Given the description of an element on the screen output the (x, y) to click on. 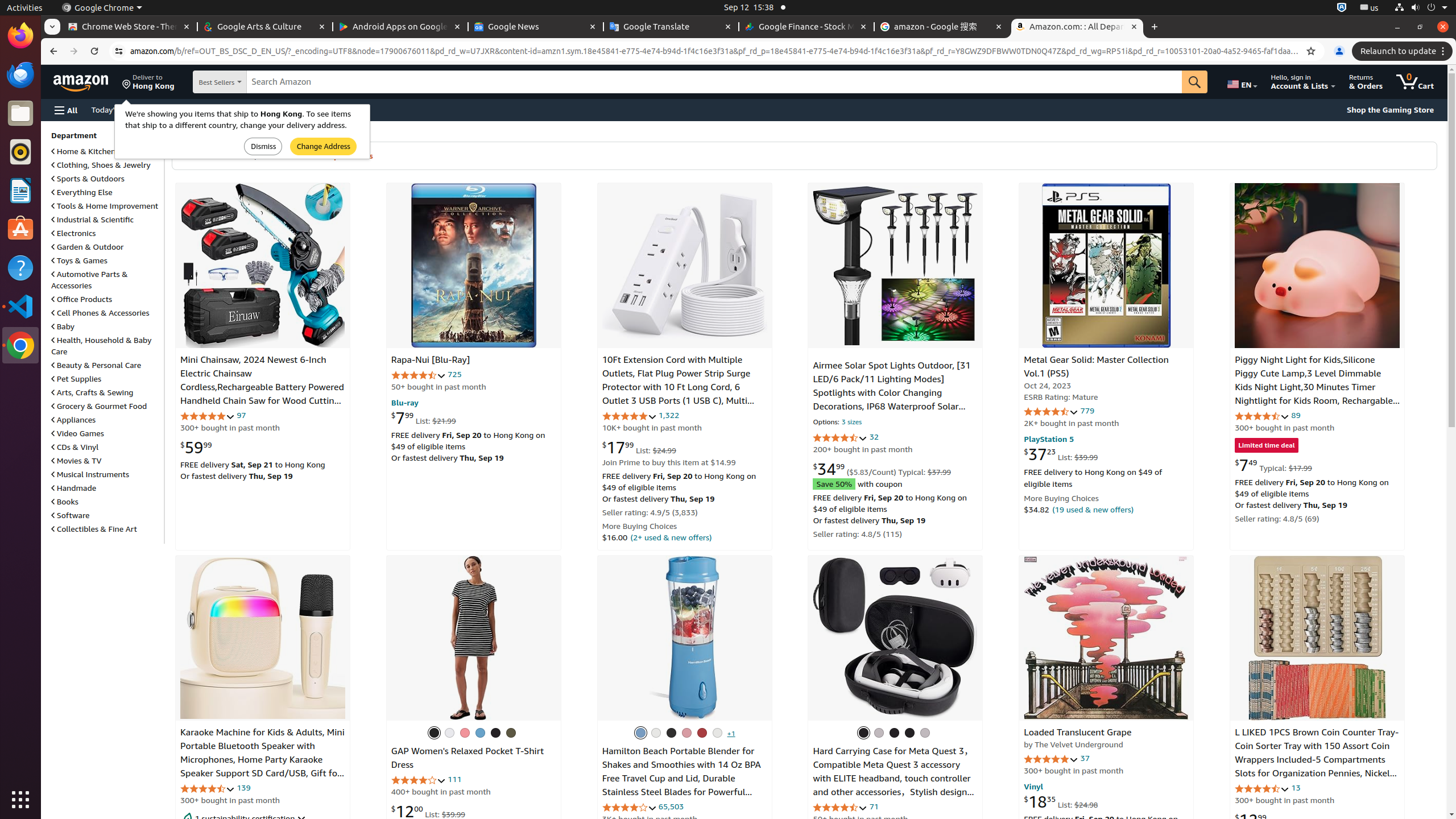
$7.99 List: $21.99 Element type: link (423, 417)
Garden & Outdoor Element type: link (87, 246)
Back Element type: push-button (51, 50)
White Element type: push-button (717, 732)
Automotive Parts & Accessories Element type: link (89, 279)
